Given the description of an element on the screen output the (x, y) to click on. 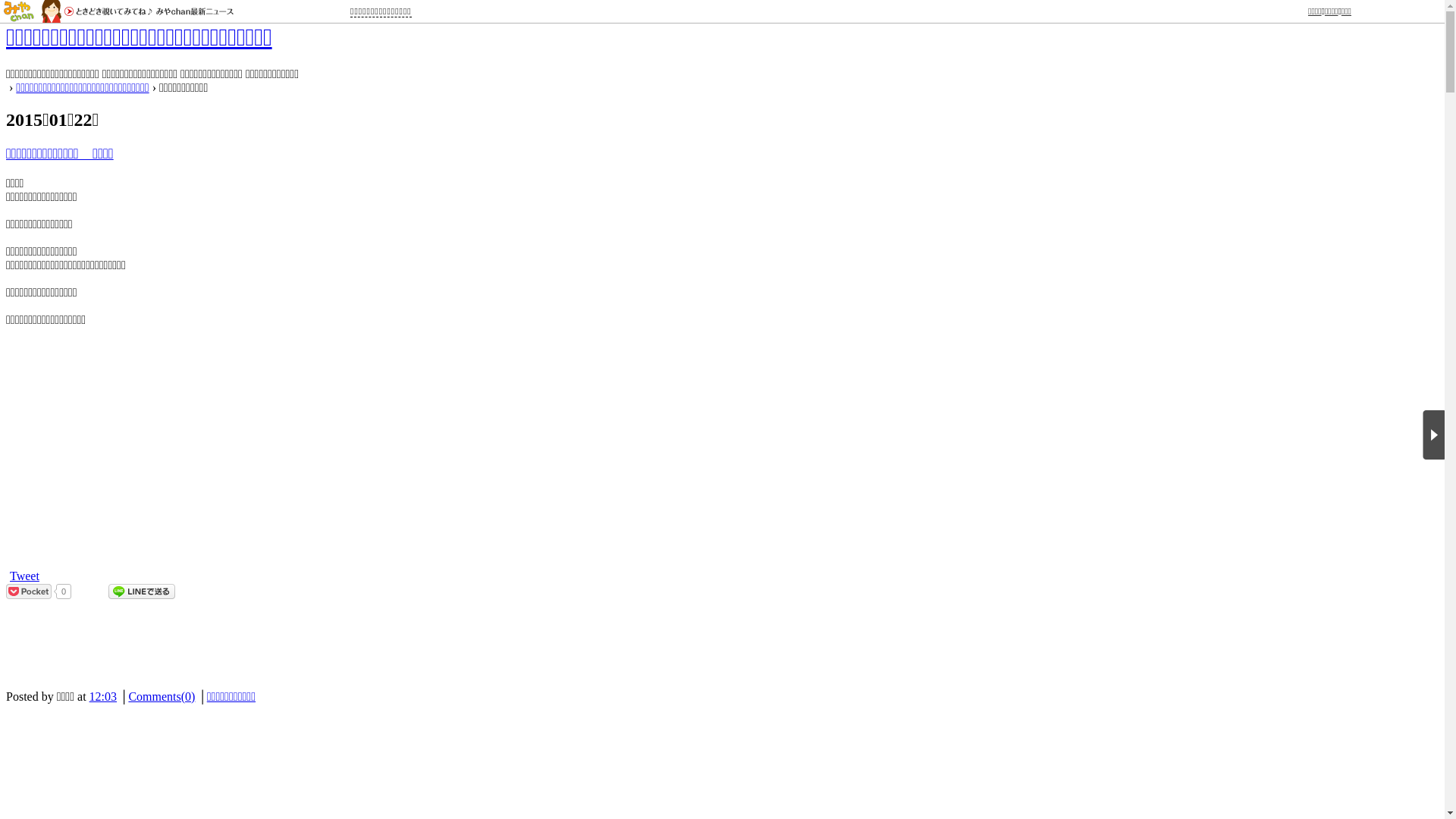
Comments(0) Element type: text (161, 696)
12:03 Element type: text (102, 696)
Tweet Element type: text (24, 575)
